Given the description of an element on the screen output the (x, y) to click on. 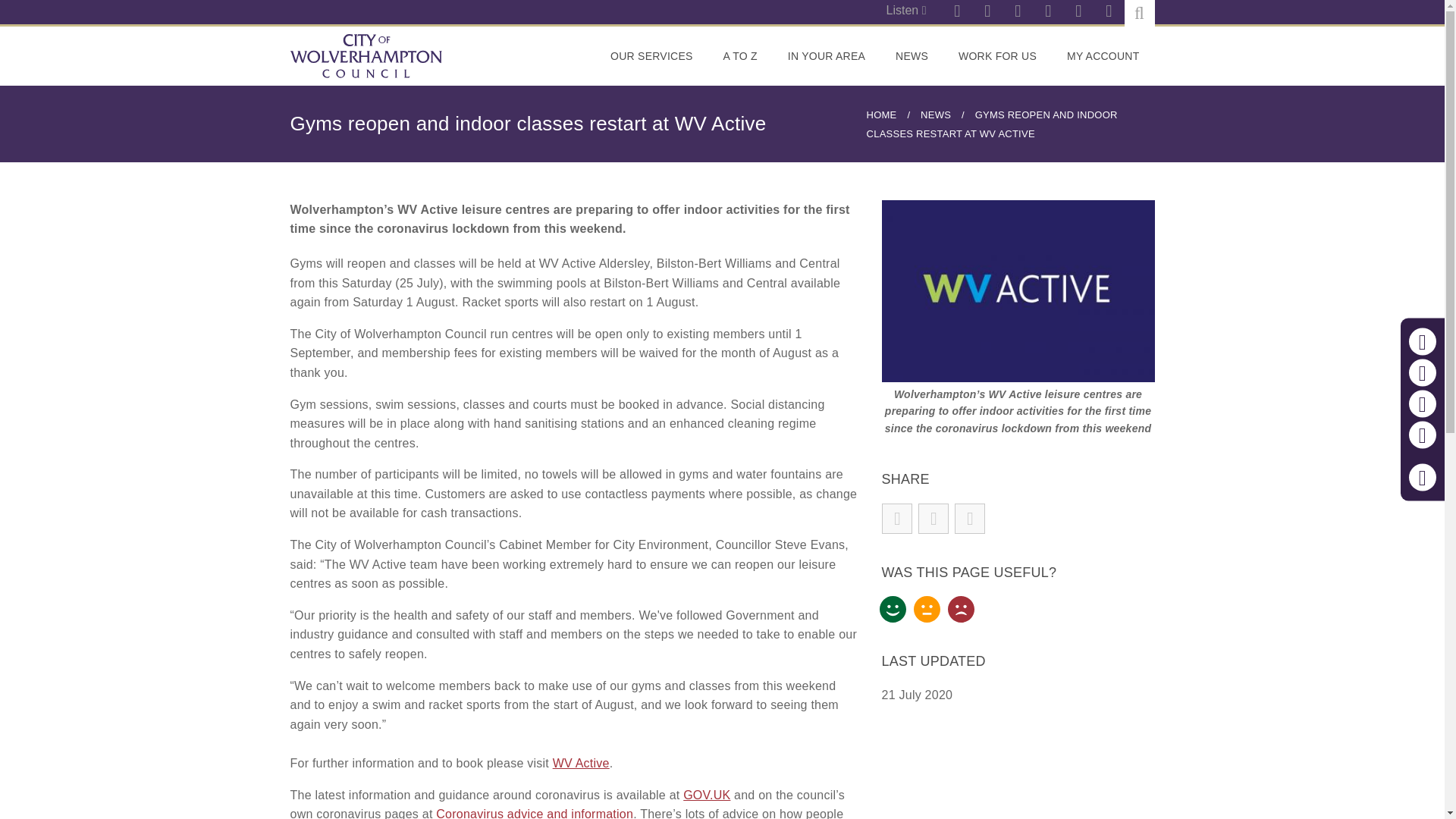
News section (911, 56)
A TO Z (740, 56)
Facebook (1077, 12)
Share to Facebook (897, 518)
This is an external link and opens in a new browser window. (997, 56)
Colour contrast (1422, 434)
IN YOUR AREA (826, 56)
WORK FOR US (997, 56)
Twitter (1047, 12)
